Given the description of an element on the screen output the (x, y) to click on. 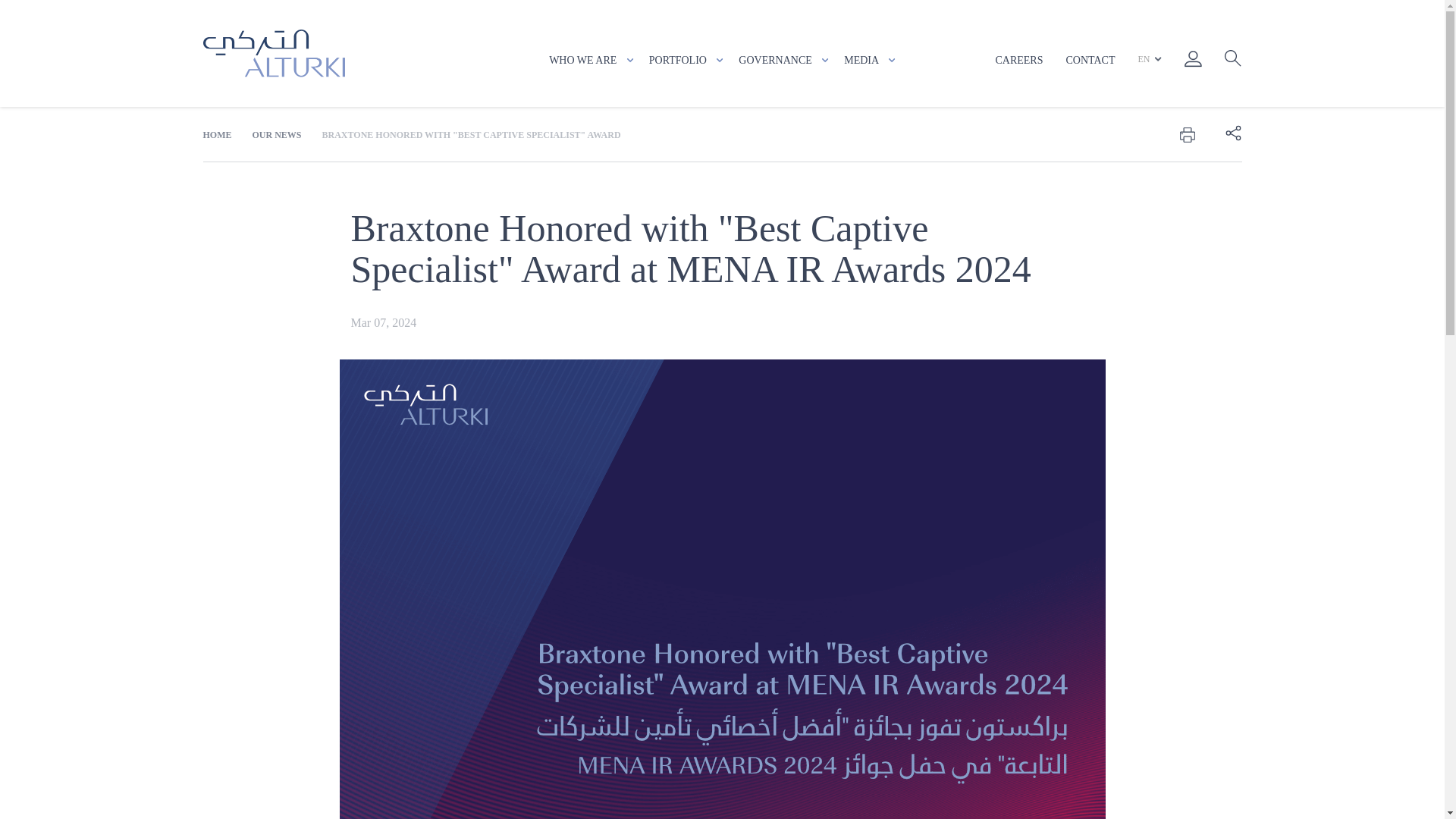
GOVERNANCE (783, 60)
MEDIA (869, 60)
Who We Are (590, 60)
CAREERS (1018, 60)
CONTACT (1090, 60)
WHO WE ARE (590, 60)
PORTFOLIO (686, 60)
Governance (783, 60)
PORTFOLIO (686, 60)
